Given the description of an element on the screen output the (x, y) to click on. 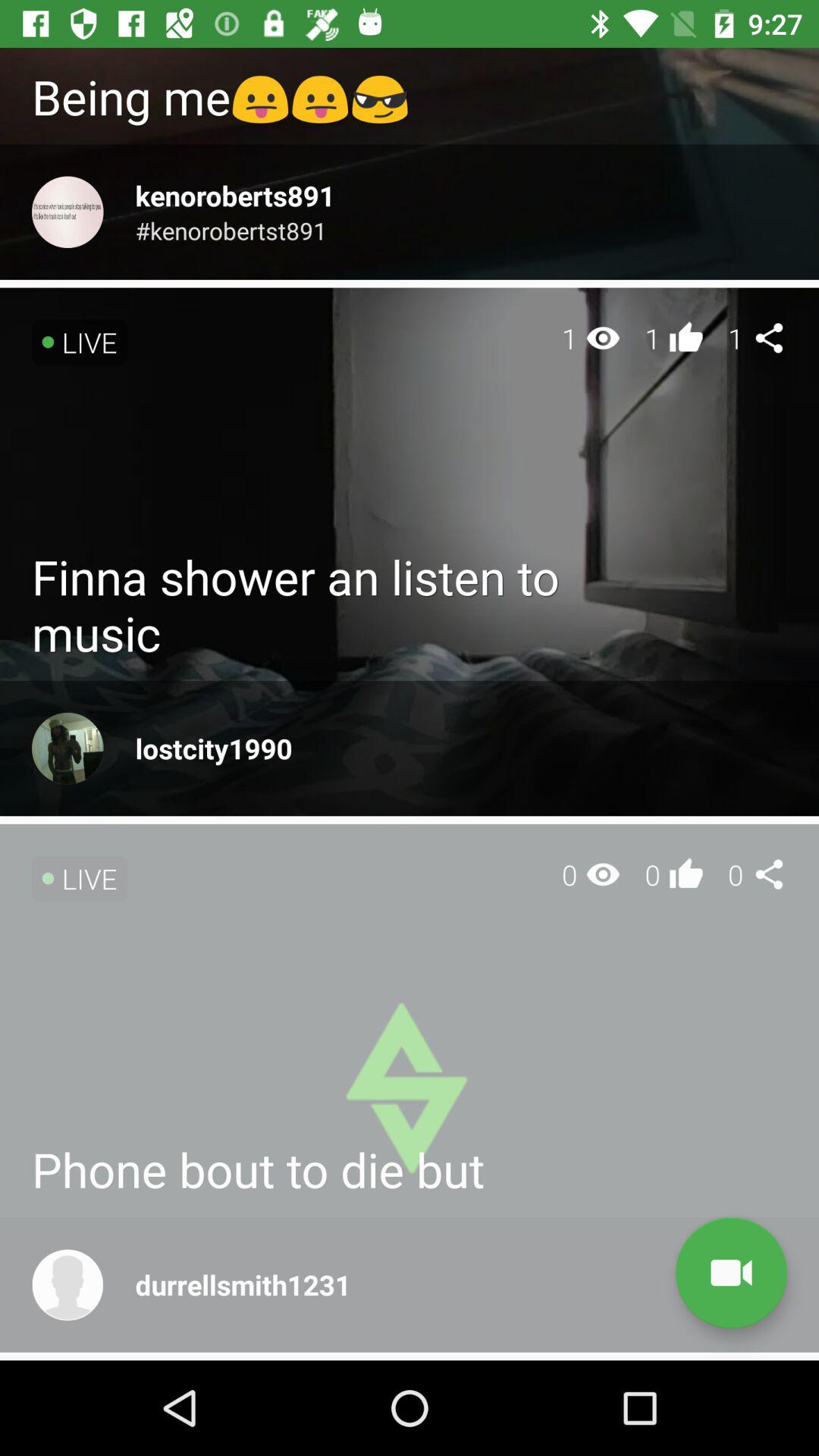
choose icon below the 0 item (731, 1272)
